Given the description of an element on the screen output the (x, y) to click on. 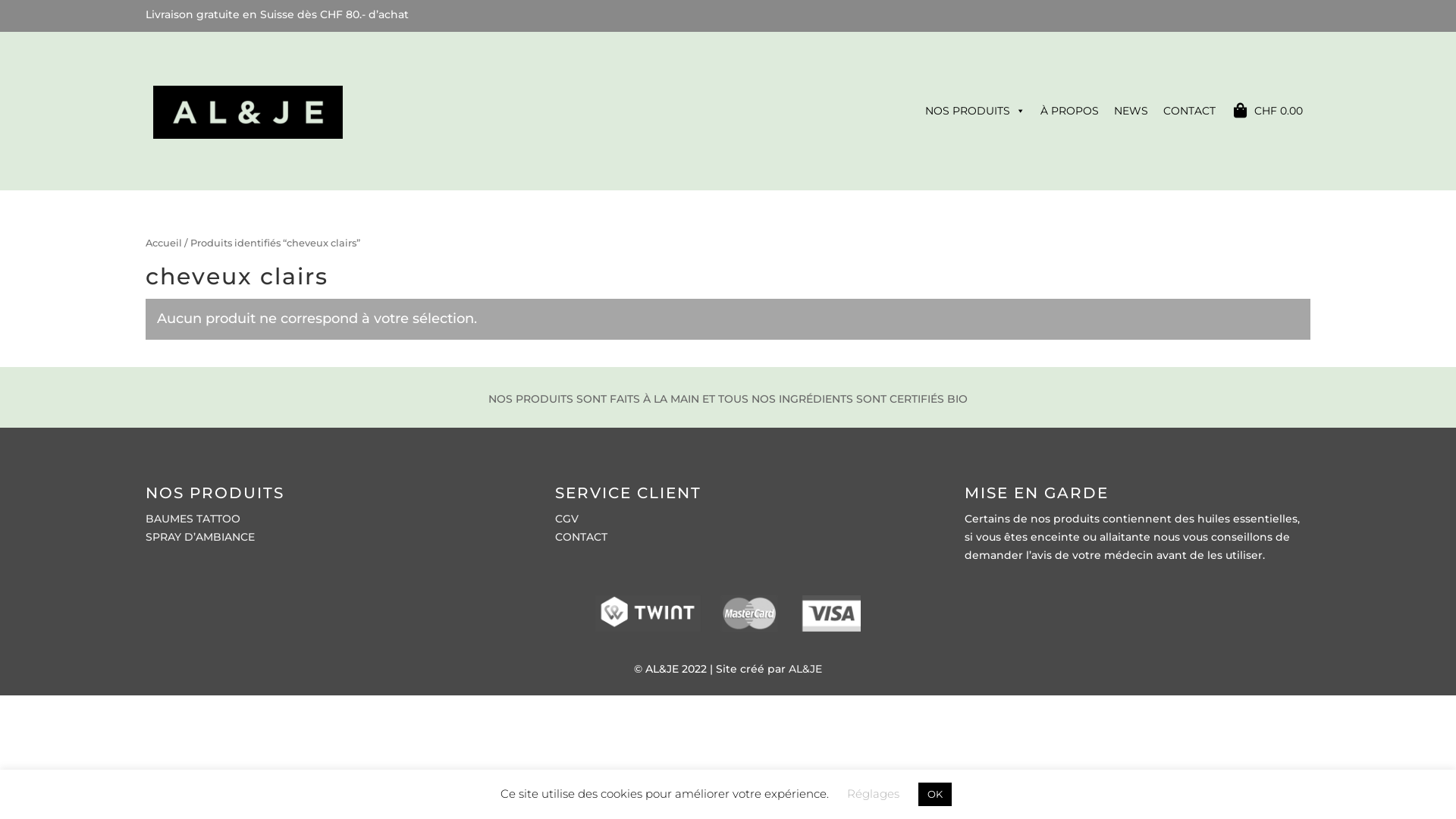
CONTACT Element type: text (581, 536)
AL&JE Element type: text (805, 668)
Accueil Element type: text (163, 242)
CHF 0.00 Element type: text (1266, 110)
BAUMES TATTOO Element type: text (192, 518)
OK Element type: text (934, 794)
CGV Element type: text (566, 518)
NEWS Element type: text (1130, 110)
CONTACT Element type: text (1189, 110)
NOS PRODUITS Element type: text (974, 110)
twint_mastercard-visa Element type: hover (727, 613)
